Given the description of an element on the screen output the (x, y) to click on. 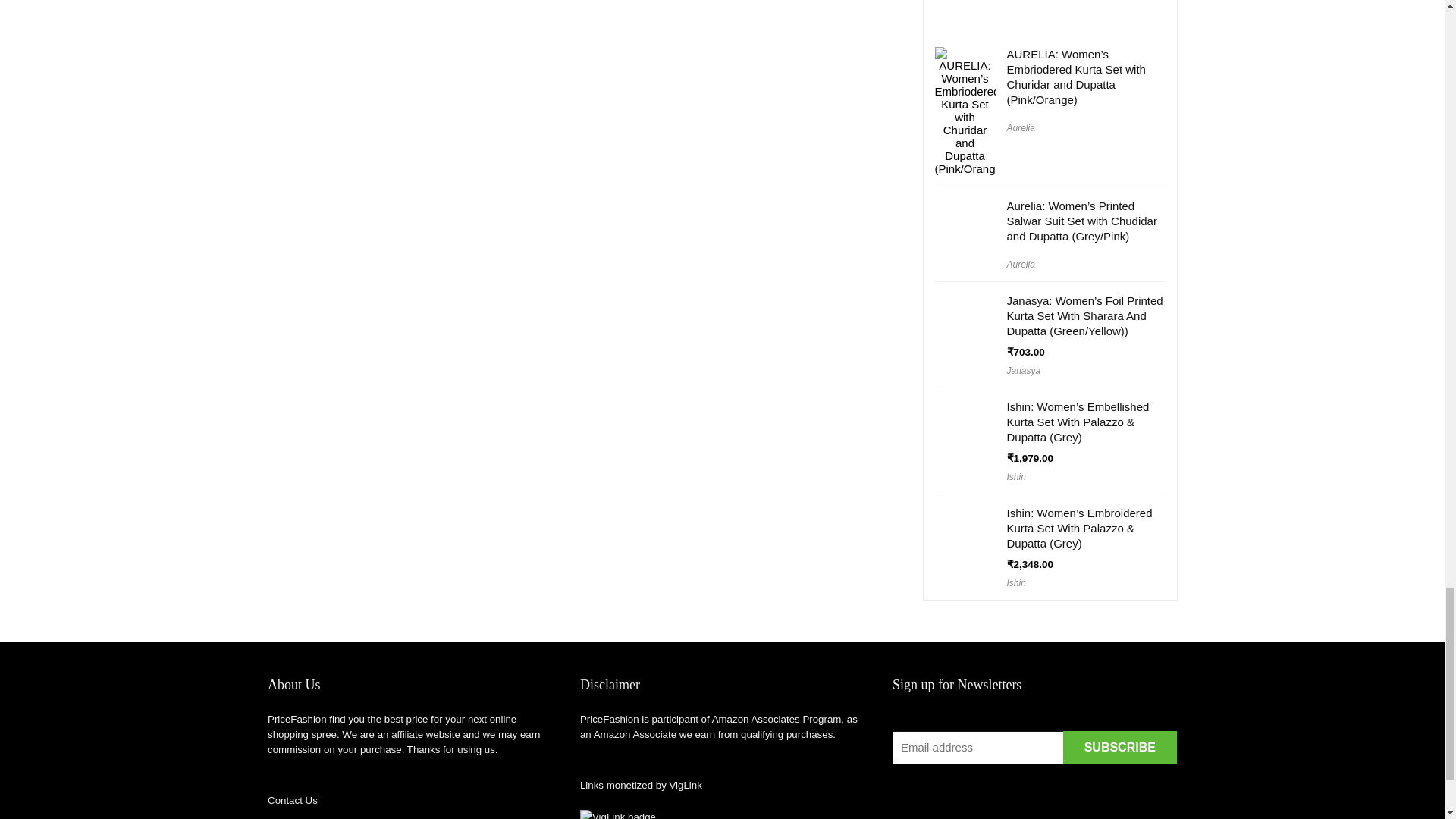
Links monetized by VigLink (617, 814)
Subscribe (1119, 747)
